Given the description of an element on the screen output the (x, y) to click on. 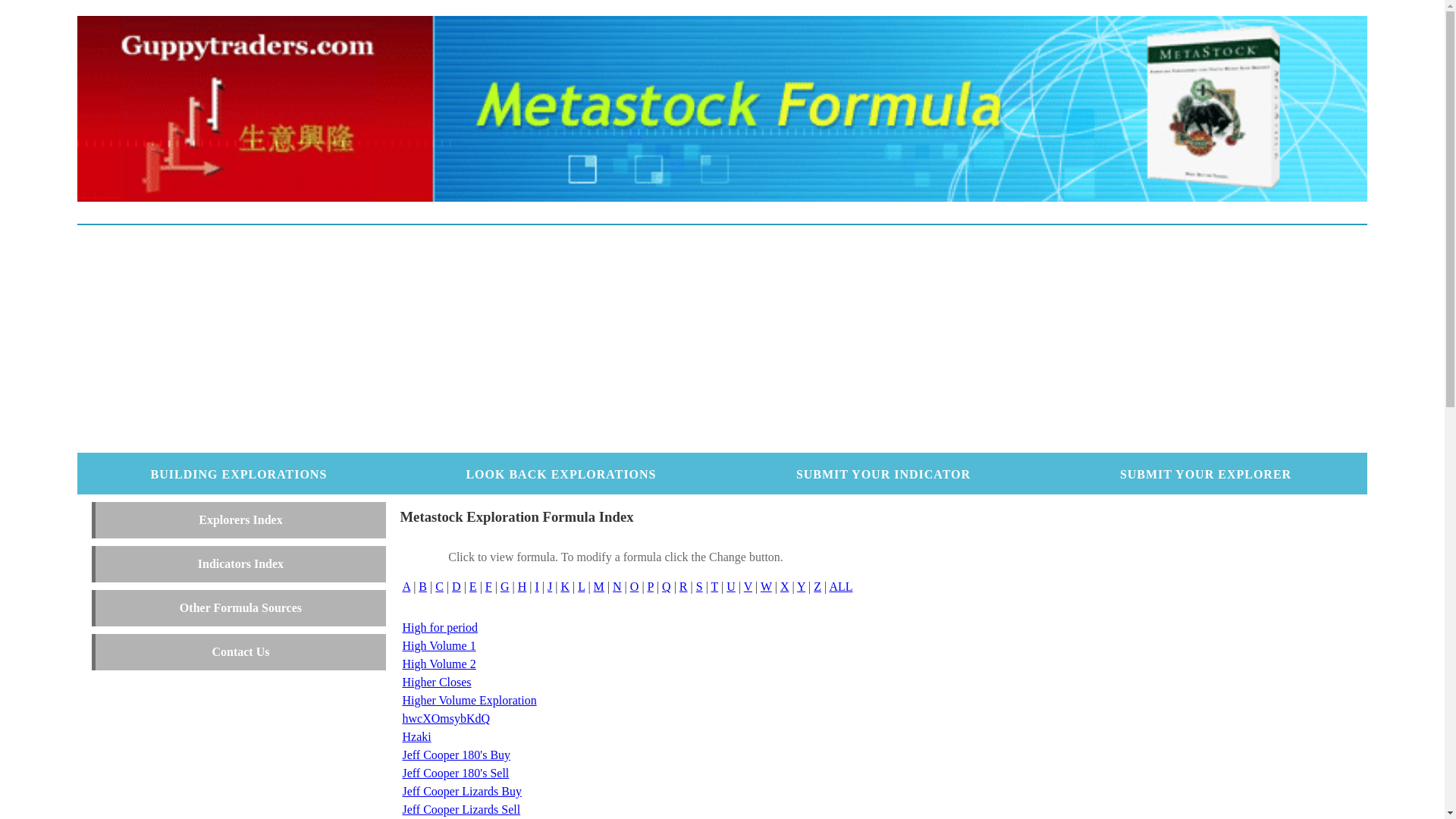
Contact Us Element type: text (240, 651)
hwcXOmsybKdQ Element type: text (445, 718)
S Element type: text (699, 586)
O Element type: text (634, 586)
High Volume 2 Element type: text (438, 663)
Q Element type: text (666, 586)
I Element type: text (536, 586)
SUBMIT YOUR EXPLORER Element type: text (1205, 473)
P Element type: text (650, 586)
High for period Element type: text (439, 627)
Other Formula Sources Element type: text (240, 607)
M Element type: text (598, 586)
J Element type: text (549, 586)
F Element type: text (488, 586)
Z Element type: text (817, 586)
D Element type: text (456, 586)
N Element type: text (616, 586)
High Volume 1 Element type: text (438, 645)
Jeff Cooper 180's Sell Element type: text (454, 772)
T Element type: text (714, 586)
Indicators Index Element type: text (240, 563)
Jeff Cooper 180's Buy Element type: text (455, 754)
L Element type: text (580, 586)
E Element type: text (472, 586)
Jeff Cooper Lizards Buy Element type: text (460, 790)
B Element type: text (422, 586)
ALL Element type: text (840, 586)
LOOK BACK EXPLORATIONS Element type: text (560, 473)
Higher Closes Element type: text (435, 681)
Y Element type: text (801, 586)
Higher Volume Exploration Element type: text (468, 699)
W Element type: text (765, 586)
BUILDING EXPLORATIONS Element type: text (238, 473)
R Element type: text (683, 586)
SUBMIT YOUR INDICATOR Element type: text (883, 473)
K Element type: text (564, 586)
Hzaki Element type: text (415, 736)
U Element type: text (730, 586)
Explorers Index Element type: text (240, 519)
Jeff Cooper Lizards Sell Element type: text (460, 809)
A Element type: text (405, 586)
V Element type: text (747, 586)
Advertisement Element type: hover (721, 338)
G Element type: text (504, 586)
H Element type: text (522, 586)
X Element type: text (784, 586)
C Element type: text (439, 586)
